Given the description of an element on the screen output the (x, y) to click on. 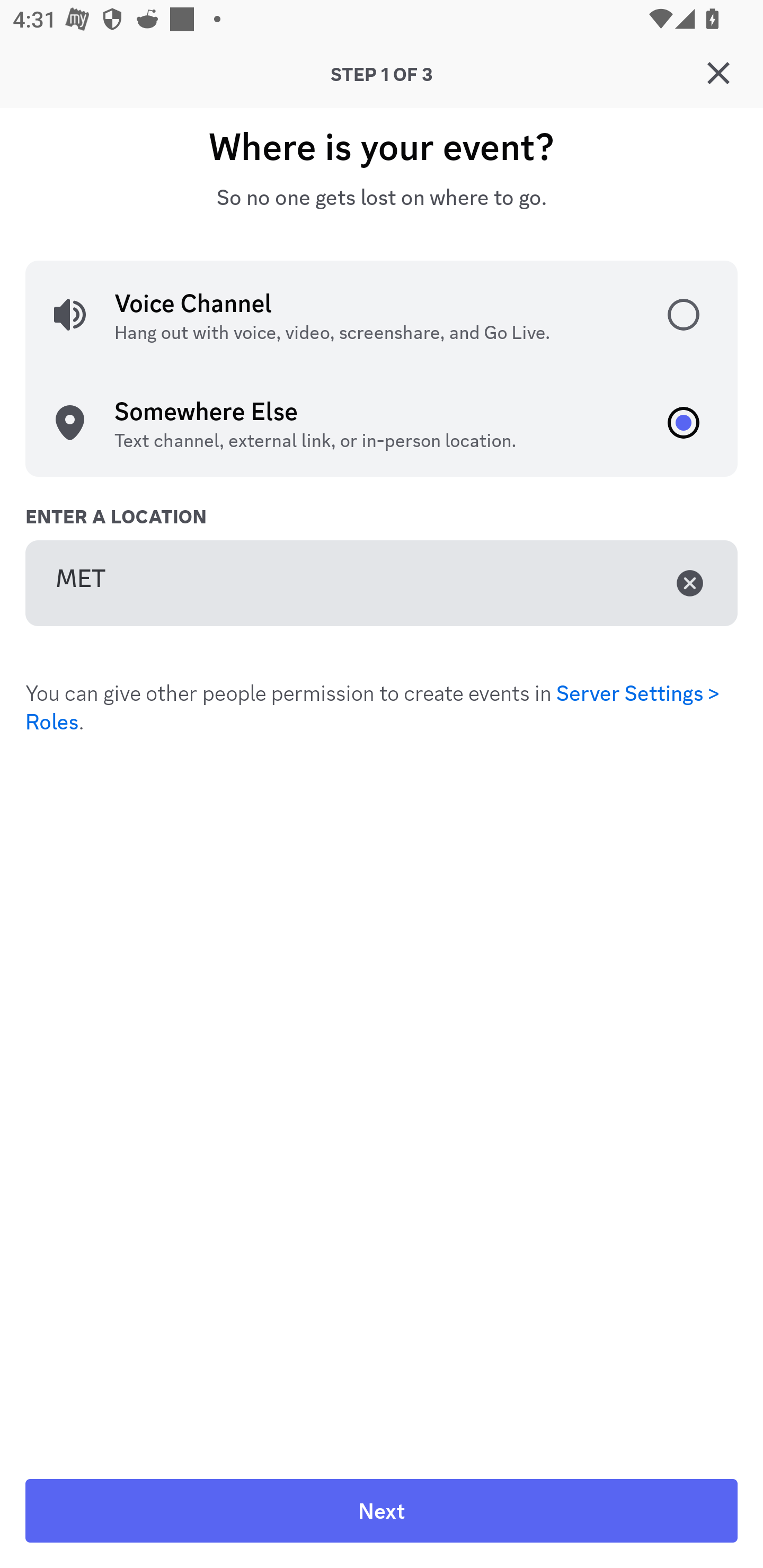
Close (718, 72)
Search (373, 165)
Text Channels (412, 404)
MET Clear (381, 582)
Clear (689, 583)
Next (381, 1510)
